Given the description of an element on the screen output the (x, y) to click on. 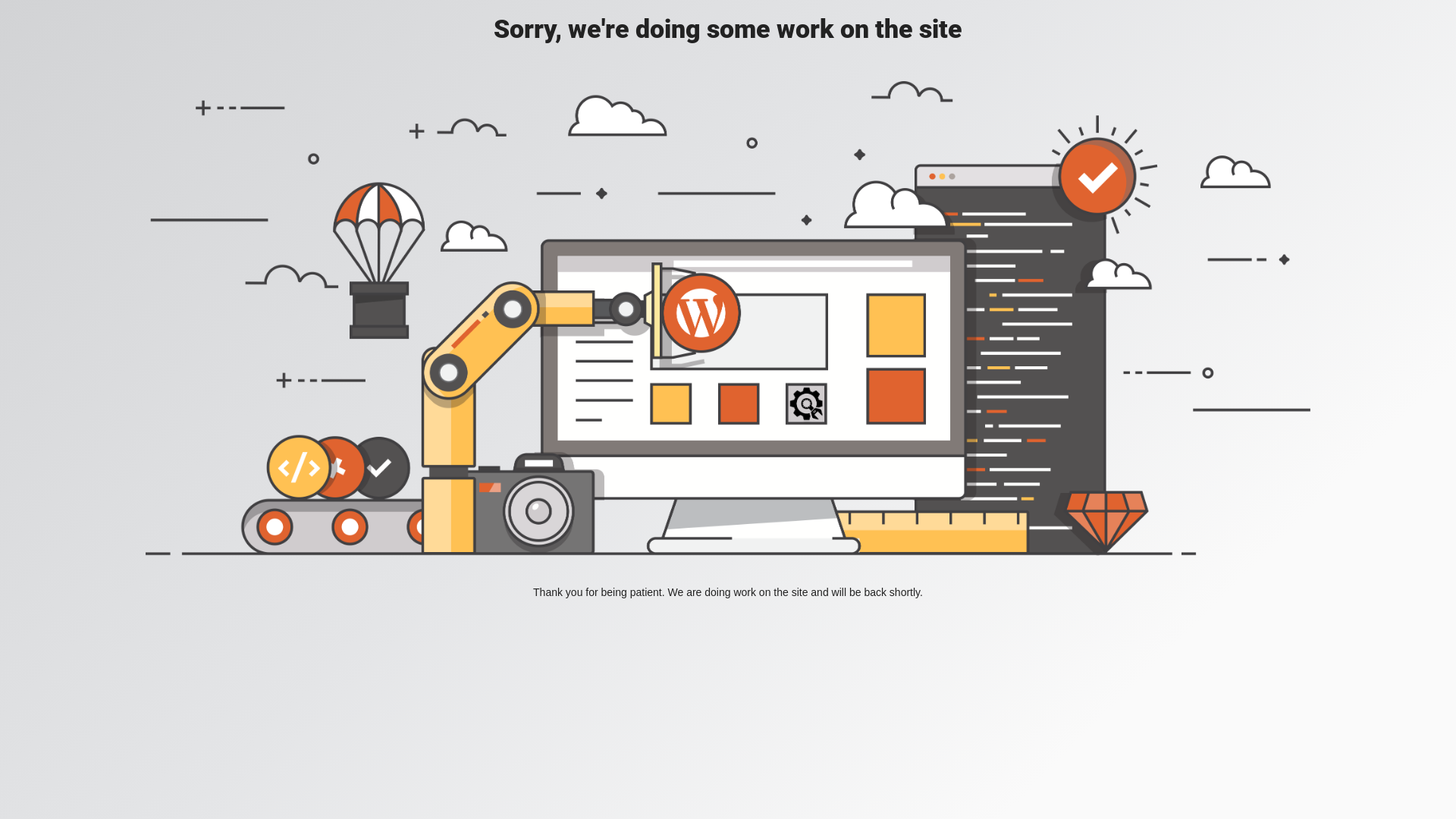
Construction work in progress Element type: hover (727, 318)
